Given the description of an element on the screen output the (x, y) to click on. 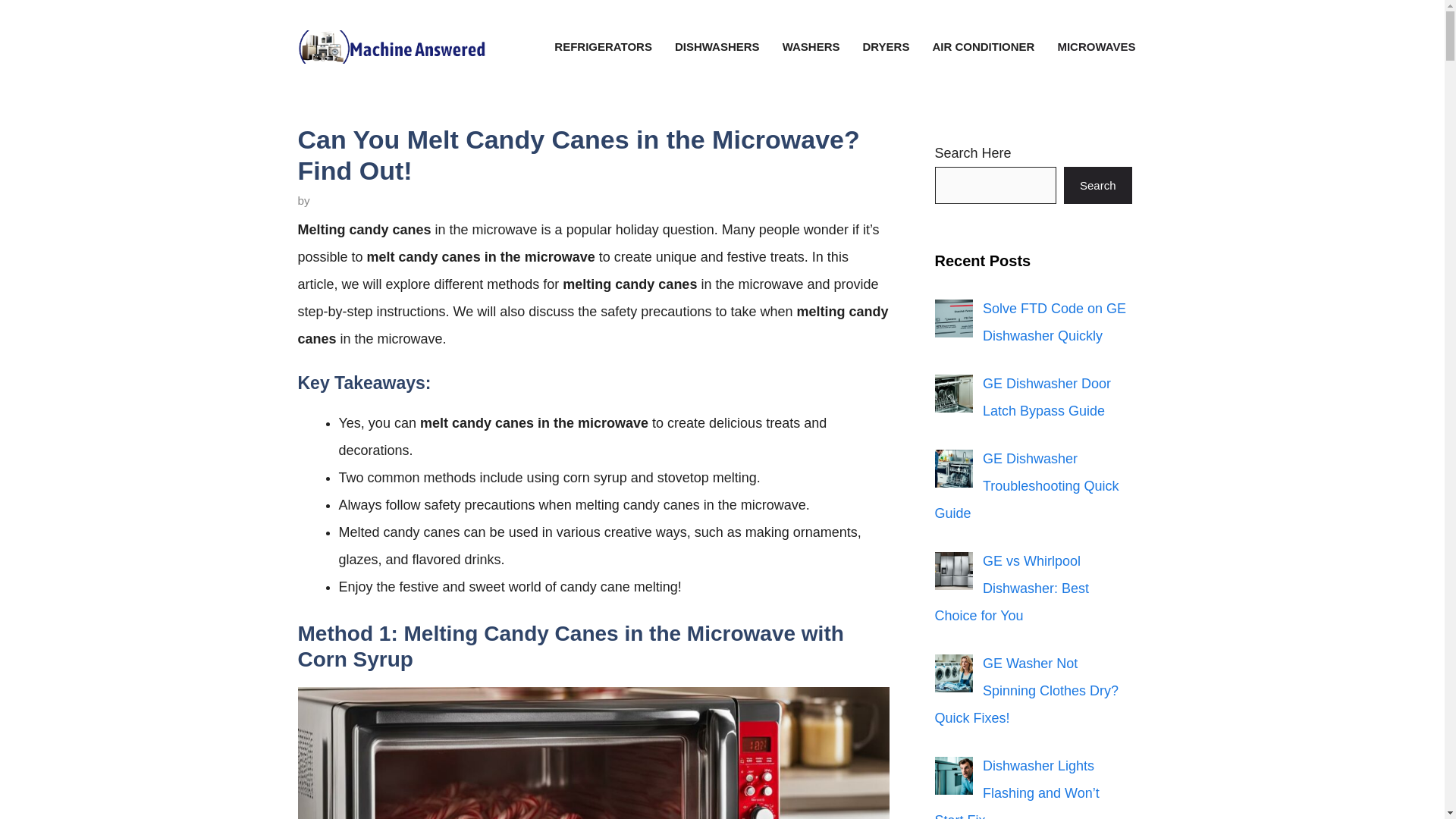
GE Dishwasher Door Latch Bypass Guide (1046, 396)
DISHWASHERS (717, 46)
REFRIGERATORS (603, 46)
Search (1098, 185)
AIR CONDITIONER (982, 46)
MICROWAVES (1096, 46)
Solve FTD Code on GE Dishwasher Quickly (1053, 322)
GE Washer Not Spinning Clothes Dry? Quick Fixes! (1026, 690)
WASHERS (811, 46)
GE vs Whirlpool Dishwasher: Best Choice for You (1011, 588)
DRYERS (885, 46)
melt candy canes in the microwave (592, 753)
GE Dishwasher Troubleshooting Quick Guide (1026, 485)
